Given the description of an element on the screen output the (x, y) to click on. 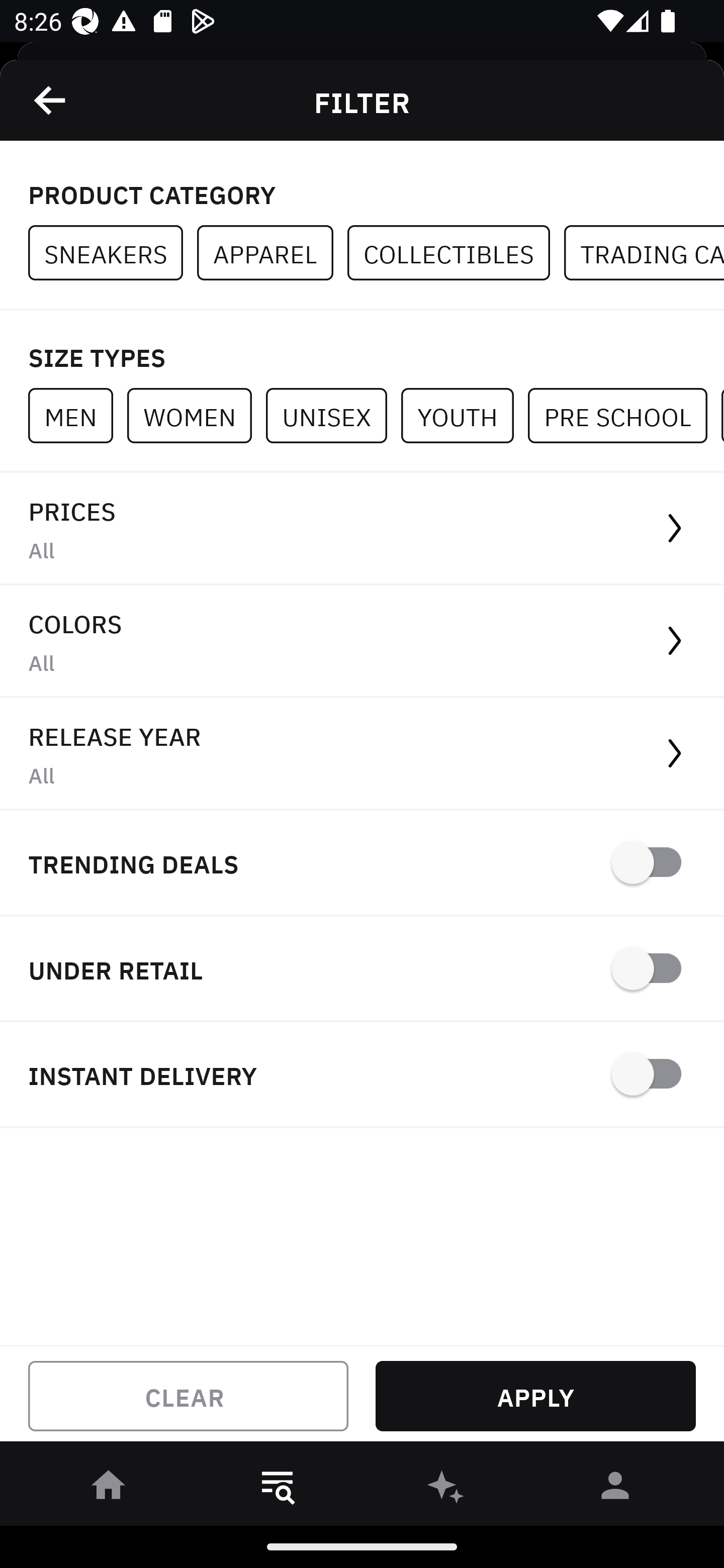
 (50, 100)
SNEAKERS (112, 252)
APPAREL (271, 252)
COLLECTIBLES (455, 252)
TRADING CARDS (643, 252)
MEN (77, 415)
WOMEN (196, 415)
UNISEX (333, 415)
YOUTH (464, 415)
PRE SCHOOL (624, 415)
PRICES All (362, 528)
COLORS All (362, 640)
RELEASE YEAR All (362, 753)
TRENDING DEALS (362, 863)
UNDER RETAIL (362, 969)
INSTANT DELIVERY (362, 1075)
CLEAR  (188, 1396)
APPLY (535, 1396)
󰋜 (108, 1488)
󱎸 (277, 1488)
󰫢 (446, 1488)
󰀄 (615, 1488)
